Given the description of an element on the screen output the (x, y) to click on. 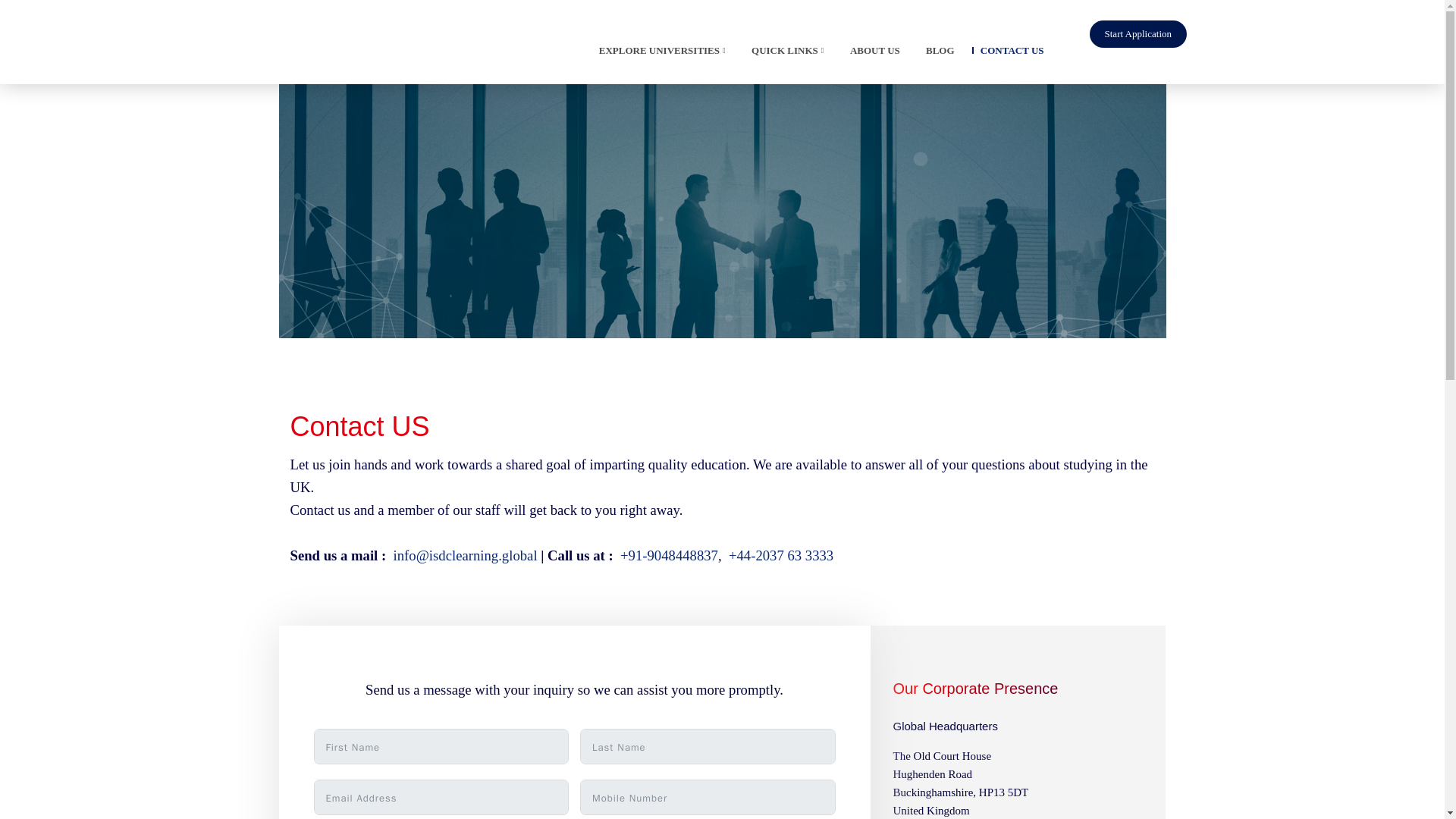
EXPLORE UNIVERSITIES (658, 53)
QUICK LINKS (783, 53)
Start Application (1137, 33)
